Given the description of an element on the screen output the (x, y) to click on. 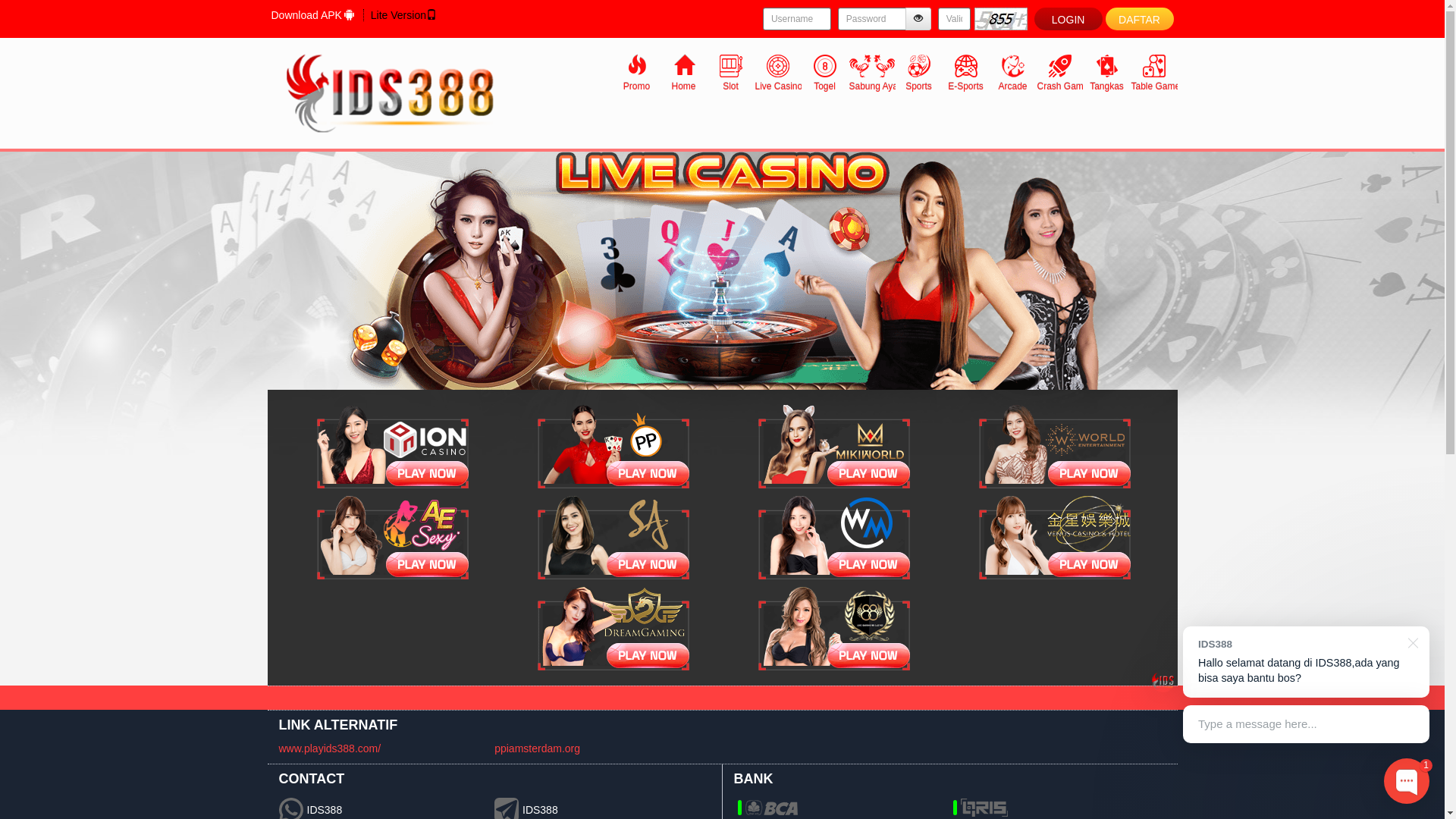
AE Sexy Element type: hover (392, 537)
Home Element type: text (682, 71)
Crash Game Element type: text (1058, 71)
Sabung Ayam Element type: text (870, 71)
DreamGaming Element type: hover (613, 628)
bca Element type: hover (770, 807)
LG88 Element type: hover (834, 628)
Lite Version Element type: text (403, 15)
DAFTAR Element type: text (1139, 18)
ppiamsterdam.org Element type: text (537, 748)
Slot Element type: text (729, 71)
Trillion Element type: hover (392, 446)
Togel Element type: text (823, 71)
Arcade Element type: text (1011, 71)
Live Casino Element type: text (776, 71)
number Element type: hover (954, 18)
WE Element type: hover (1054, 446)
Live Casino Element type: hover (721, 270)
LOGIN Element type: text (1068, 18)
E-Sports Element type: text (964, 71)
PragmaticPlay Element type: hover (613, 446)
www.playids388.com/ Element type: text (330, 748)
Promo Element type: text (635, 71)
SA Element type: hover (613, 537)
Venus Element type: hover (1054, 537)
WM Element type: hover (834, 537)
Tangkas Element type: text (1105, 71)
Download APK Element type: text (311, 15)
Miki Element type: hover (834, 446)
qris Element type: hover (983, 807)
Sports Element type: text (917, 71)
Table Game Element type: text (1152, 71)
